Given the description of an element on the screen output the (x, y) to click on. 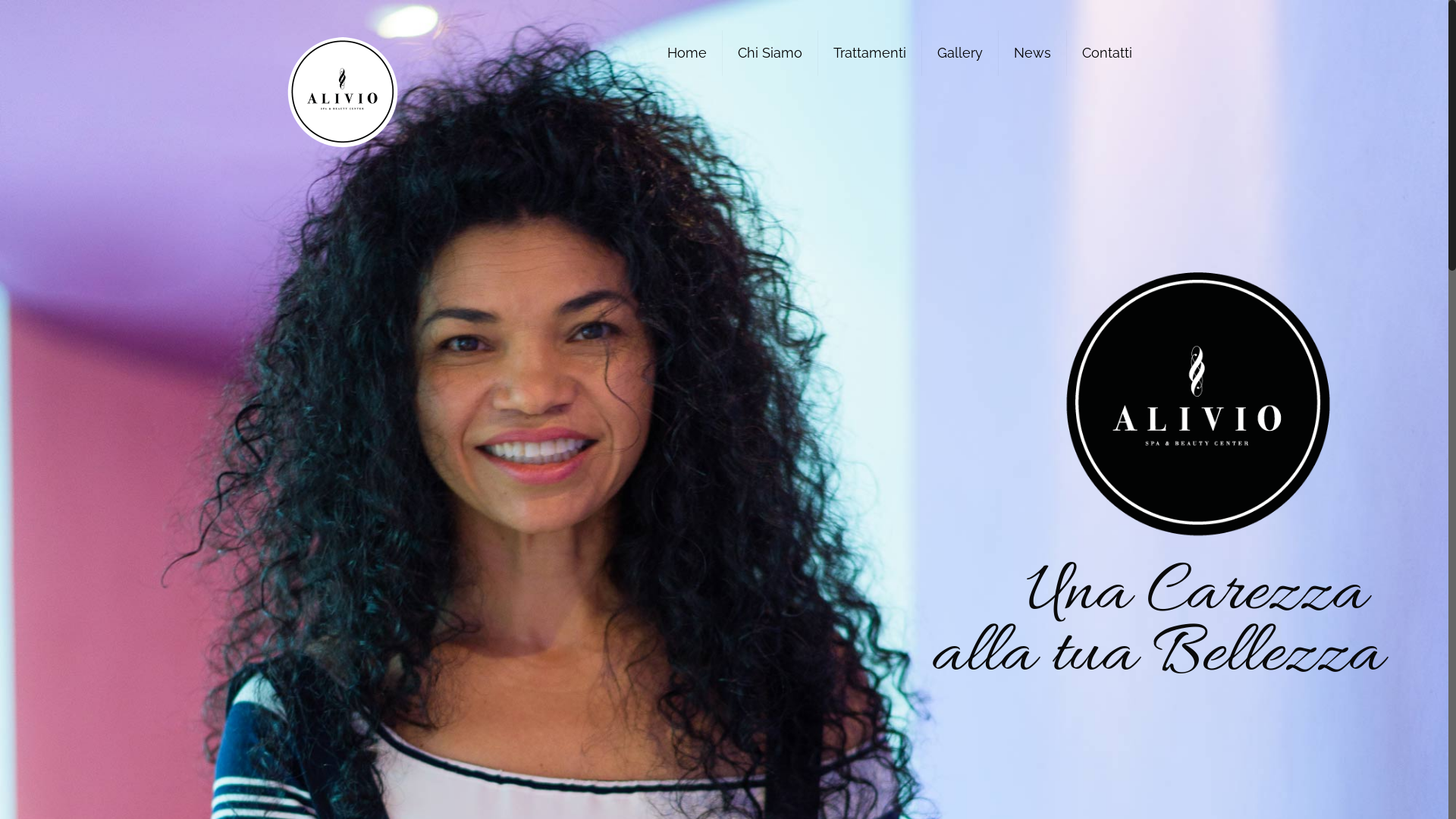
Alivio Element type: hover (342, 90)
Contatti Element type: text (1106, 52)
Gallery Element type: text (960, 52)
Chi Siamo Element type: text (770, 52)
News Element type: text (1032, 52)
Home Element type: text (687, 52)
Trattamenti Element type: text (870, 52)
